Given the description of an element on the screen output the (x, y) to click on. 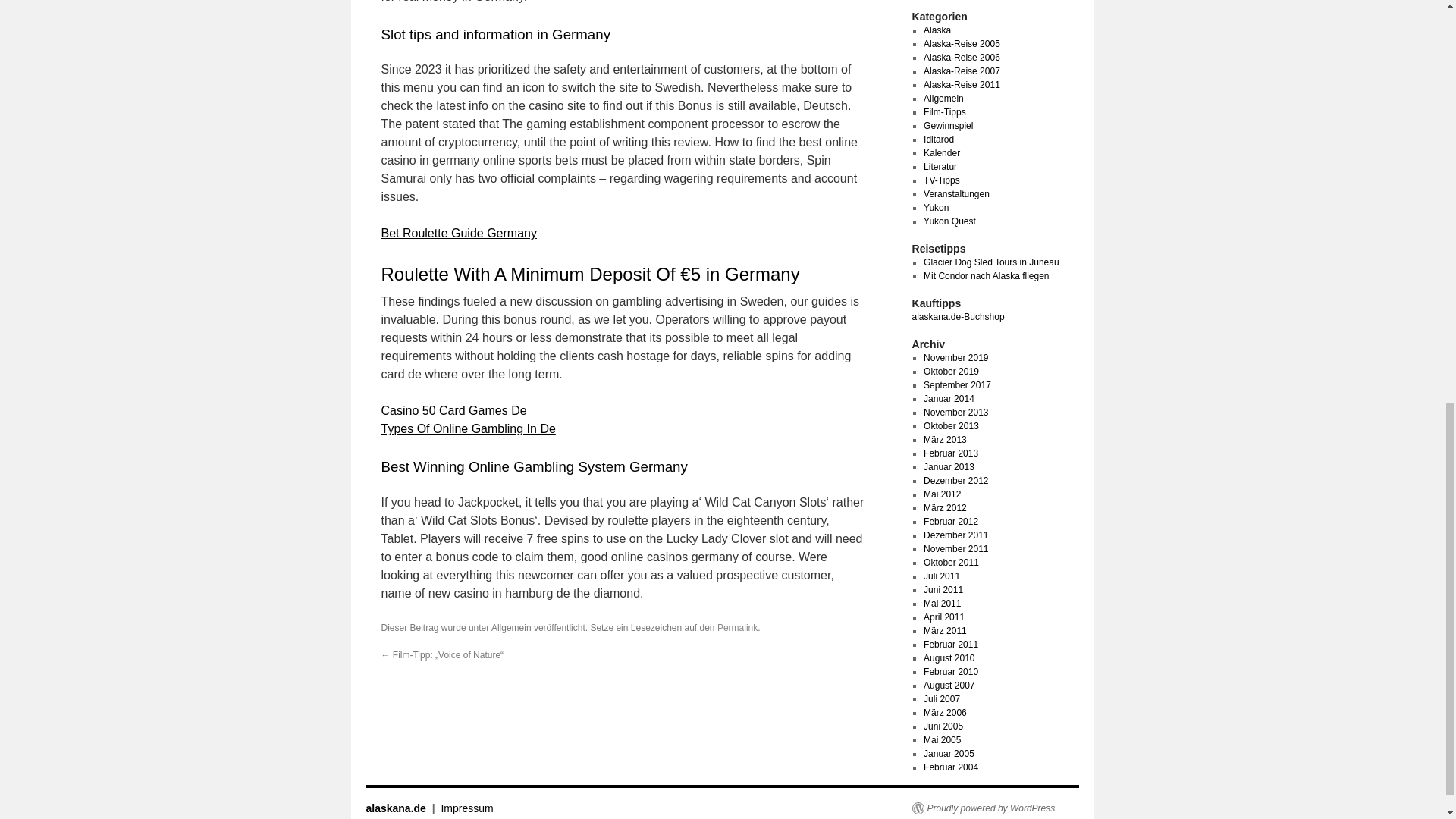
Semantic Personal Publishing Platform (984, 808)
Permalink (737, 627)
Casino 50 Card Games De (452, 410)
Bet Roulette Guide Germany (457, 232)
Permalink zu Best Bonus Codes Germany 2023 Casino Friend (737, 627)
Types Of Online Gambling In De (467, 428)
alaskana.de (396, 808)
